Given the description of an element on the screen output the (x, y) to click on. 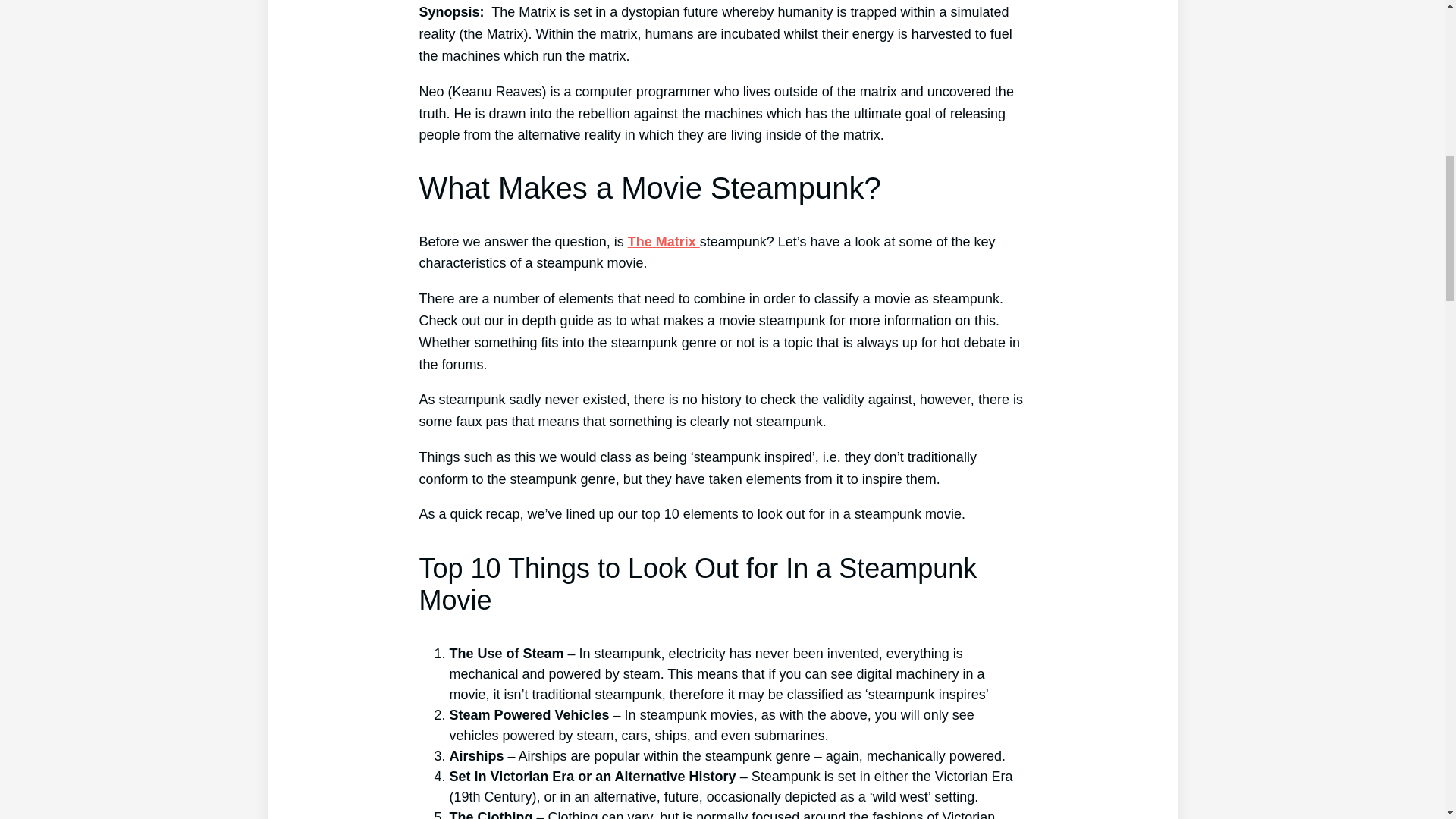
The Matrix (663, 241)
